Given the description of an element on the screen output the (x, y) to click on. 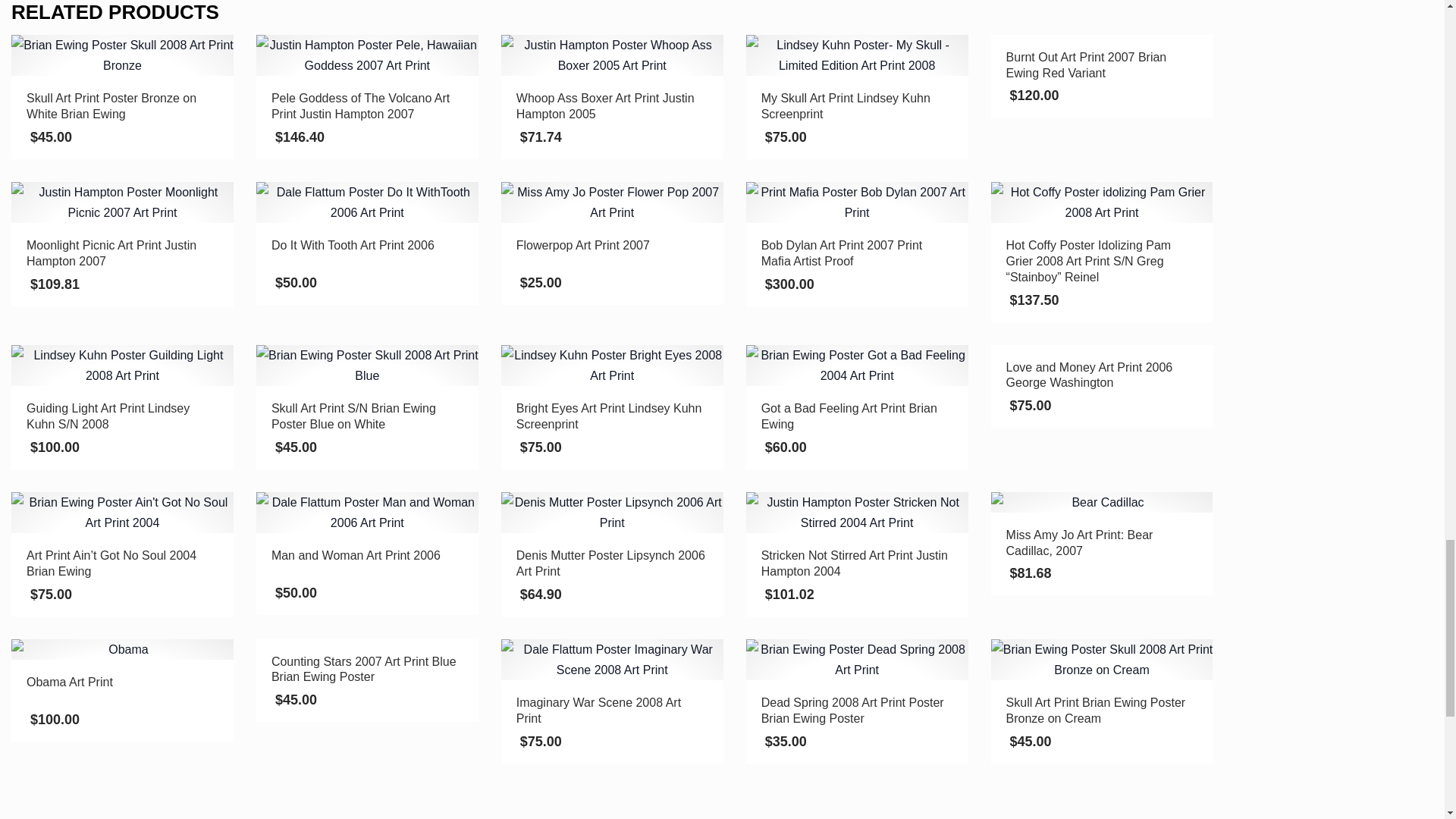
Skull Art Print Poster Bronze on White Brian Ewing (121, 55)
Justin Hampton Poster Pele, Hawaiian Goddess 2007 Art Print (367, 55)
